Given the description of an element on the screen output the (x, y) to click on. 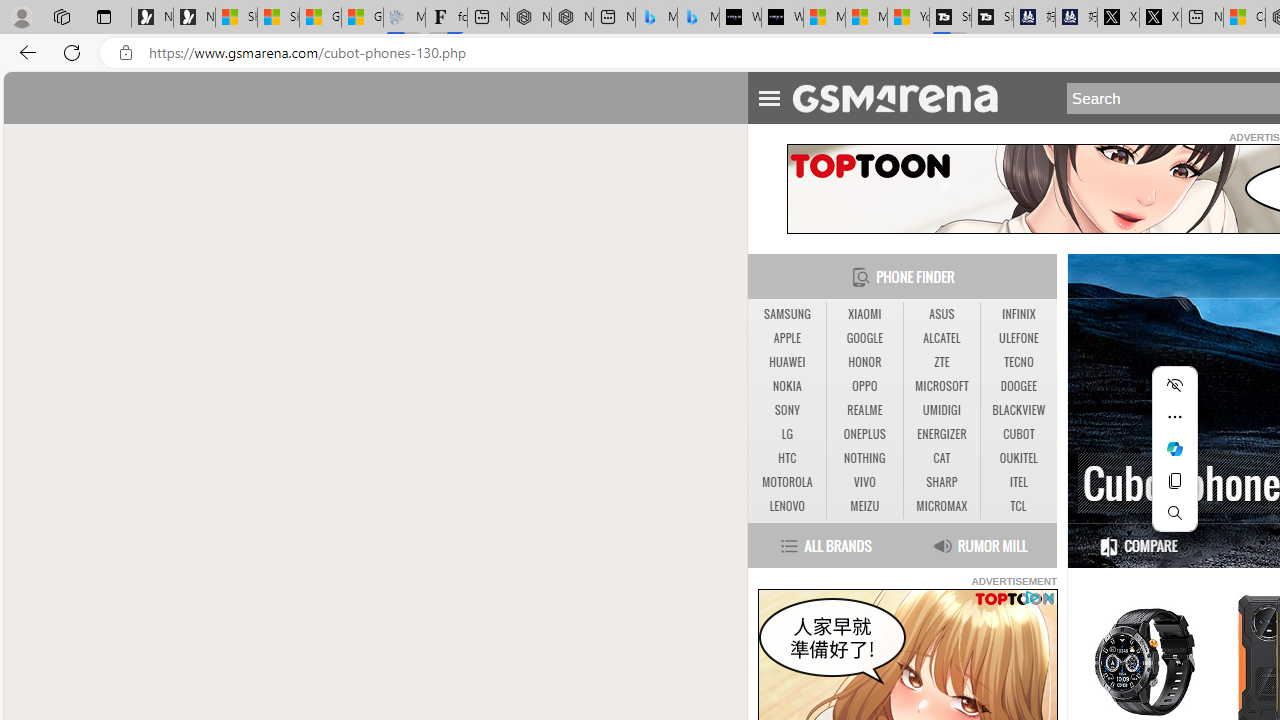
CAT (941, 457)
OPPO (864, 386)
Mini menu on text selection (1174, 449)
ITEL (1018, 482)
LENOVO (786, 506)
SHARP (941, 482)
TECNO (1018, 362)
XIAOMI (863, 313)
ITEL (1018, 483)
HUAWEI (786, 362)
Gilma and Hector both pose tropical trouble for Hawaii (361, 17)
OUKITEL (1018, 457)
